Given the description of an element on the screen output the (x, y) to click on. 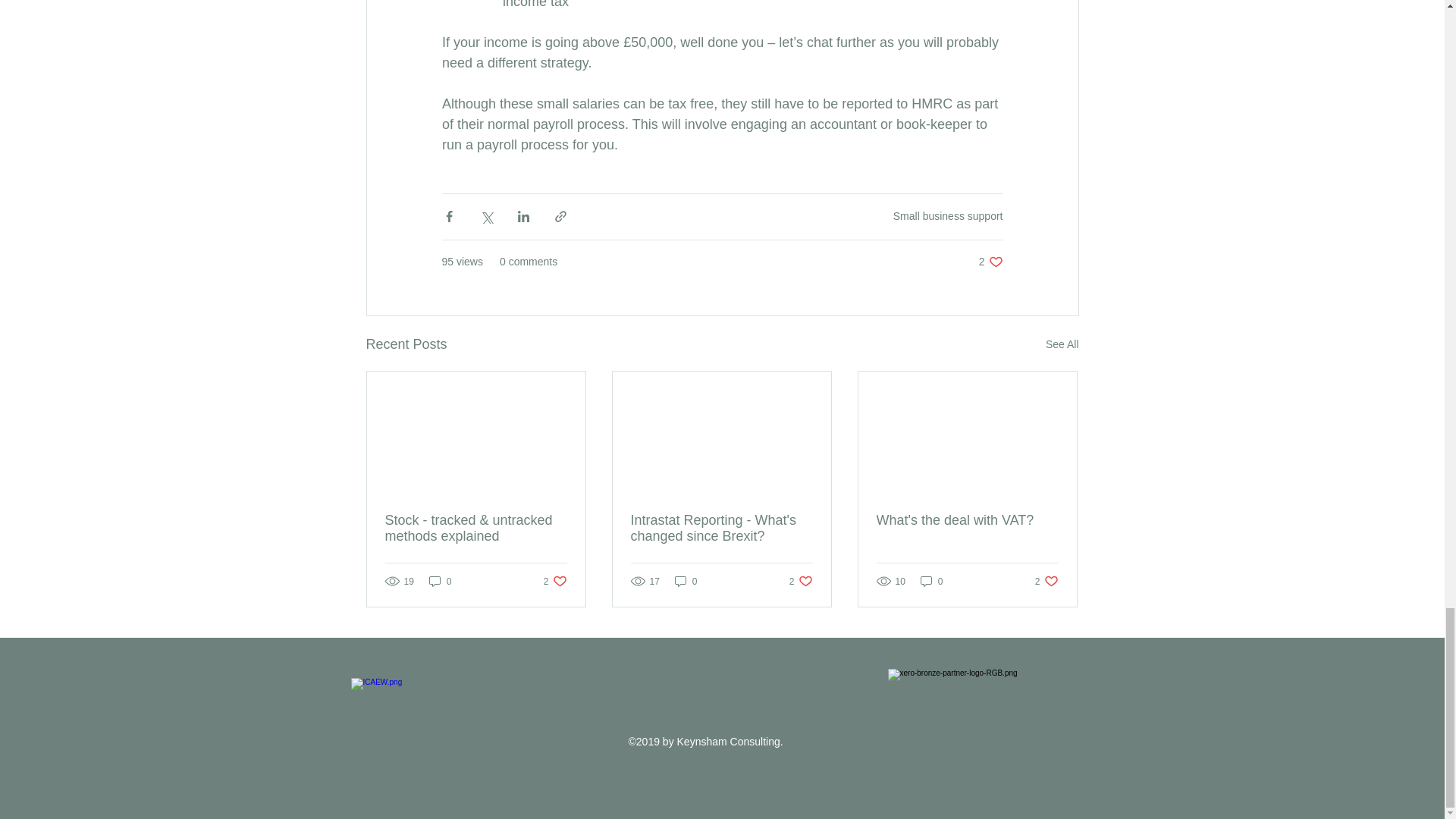
0 (1046, 581)
0 (990, 261)
Small business support (685, 581)
See All (800, 581)
What's the deal with VAT? (931, 581)
Intrastat Reporting - What's changed since Brexit? (948, 215)
0 (555, 581)
